Given the description of an element on the screen output the (x, y) to click on. 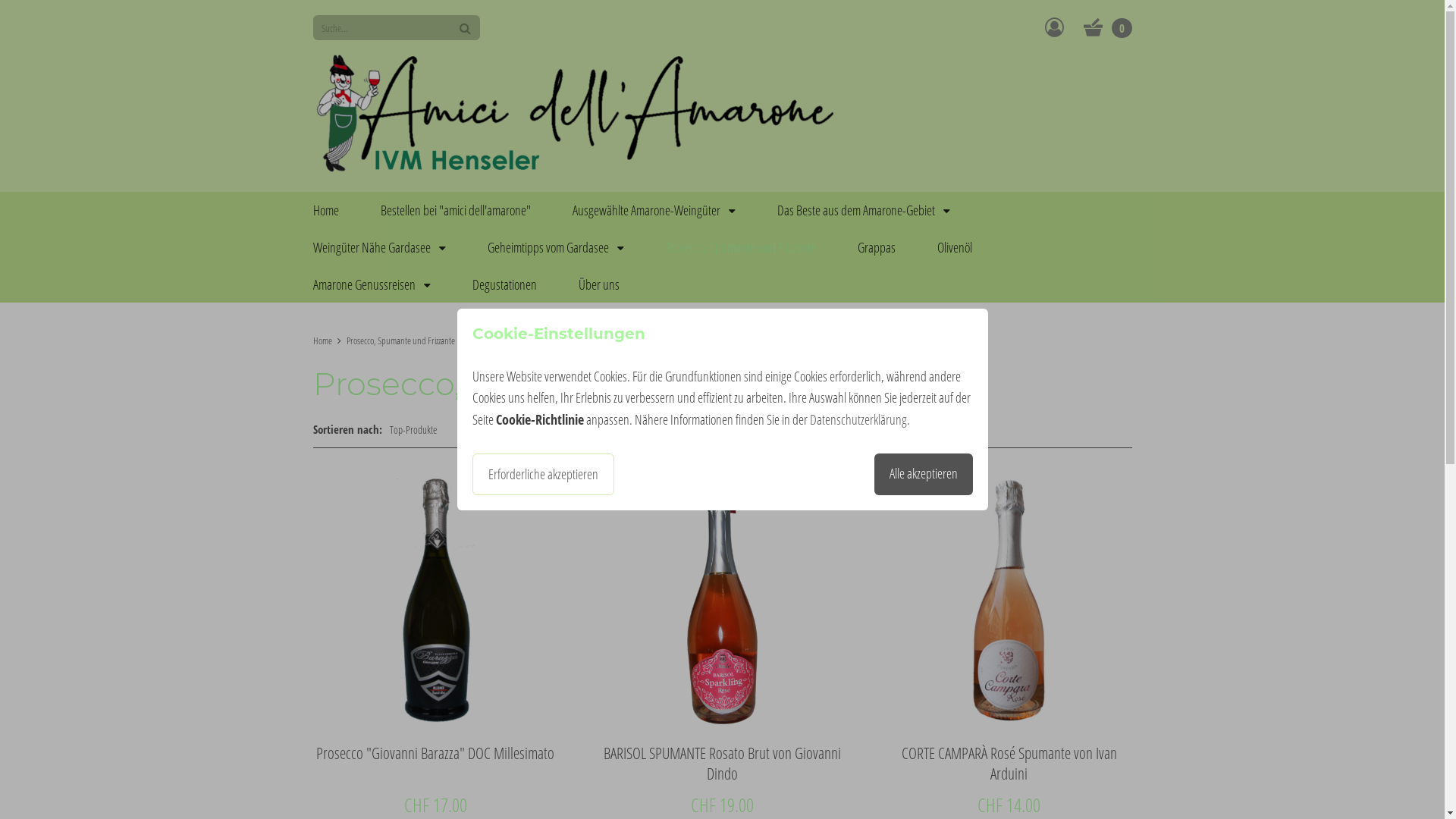
Home Element type: text (325, 209)
Erforderliche akzeptieren Element type: text (542, 474)
Suche Element type: text (463, 27)
Prosecco, Spumante und Frizzante Element type: text (399, 340)
amici dell amarone Wein-Shop Element type: hover (574, 115)
Das Beste aus dem Amarone-Gebiet Element type: text (862, 209)
Amarone Genussreisen Element type: text (370, 284)
Prosecco "Giovanni Barazza" DOC Millesimato Element type: text (434, 632)
Grappas Element type: text (875, 247)
Bestellen bei "amici dell'amarone" Element type: text (455, 209)
Home Element type: text (321, 340)
Prosecco, Spumante und Frizzante Element type: text (740, 247)
Degustationen Element type: text (503, 284)
Geheimtipps vom Gardasee Element type: text (554, 247)
Warenkorb anzeigen. Sie haben 0 Artikel im Warenkorb.
0 Element type: text (1107, 26)
Alle akzeptieren Element type: text (922, 474)
BARISOL SPUMANTE Rosato Brut von Giovanni Dindo Element type: text (721, 632)
